Given the description of an element on the screen output the (x, y) to click on. 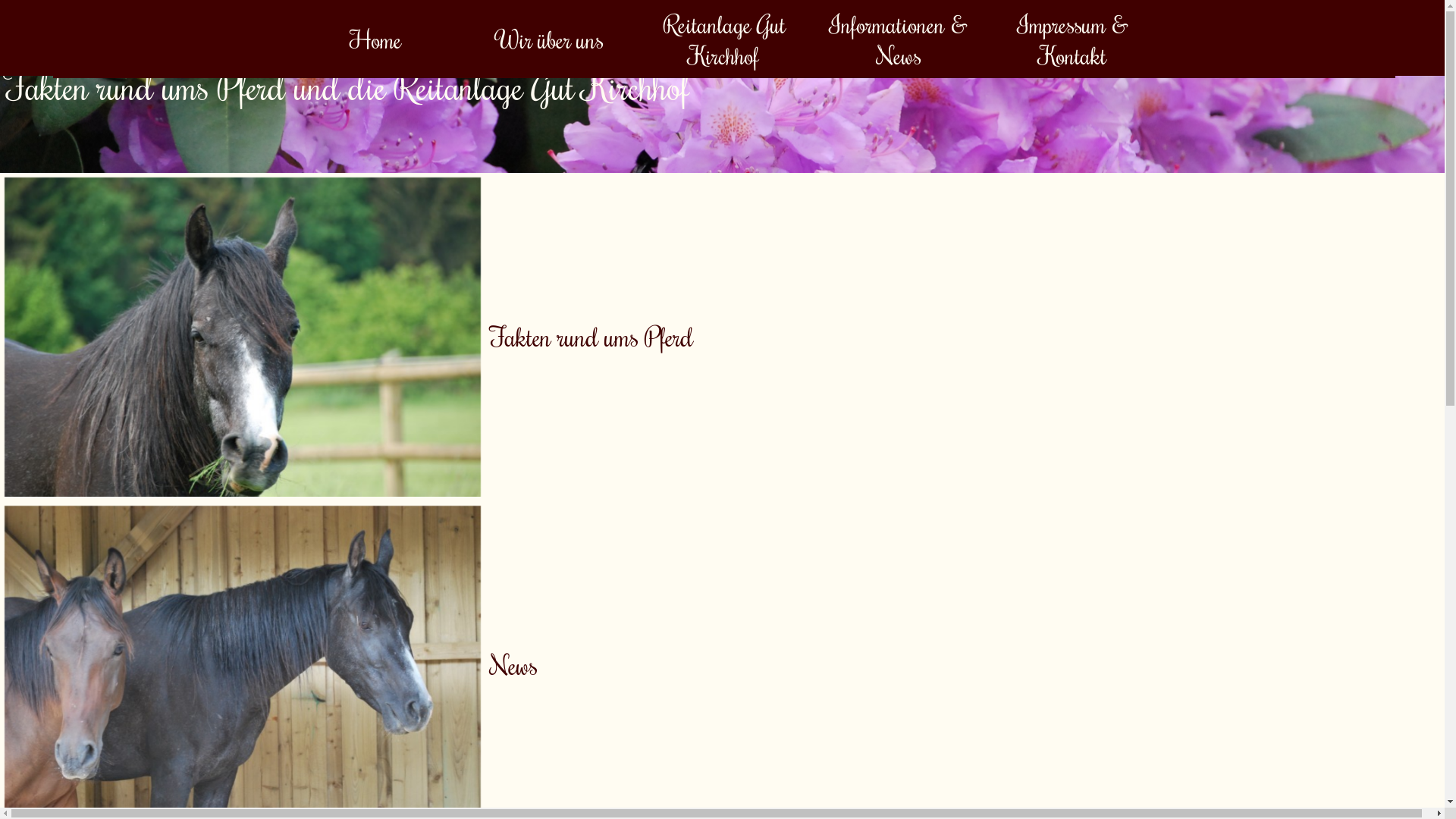
Impressum & Kontakt Element type: text (1072, 39)
Home Element type: text (375, 39)
Informationen & News Element type: text (898, 39)
Reitanlage Gut Kirchhof Element type: text (724, 39)
